Given the description of an element on the screen output the (x, y) to click on. 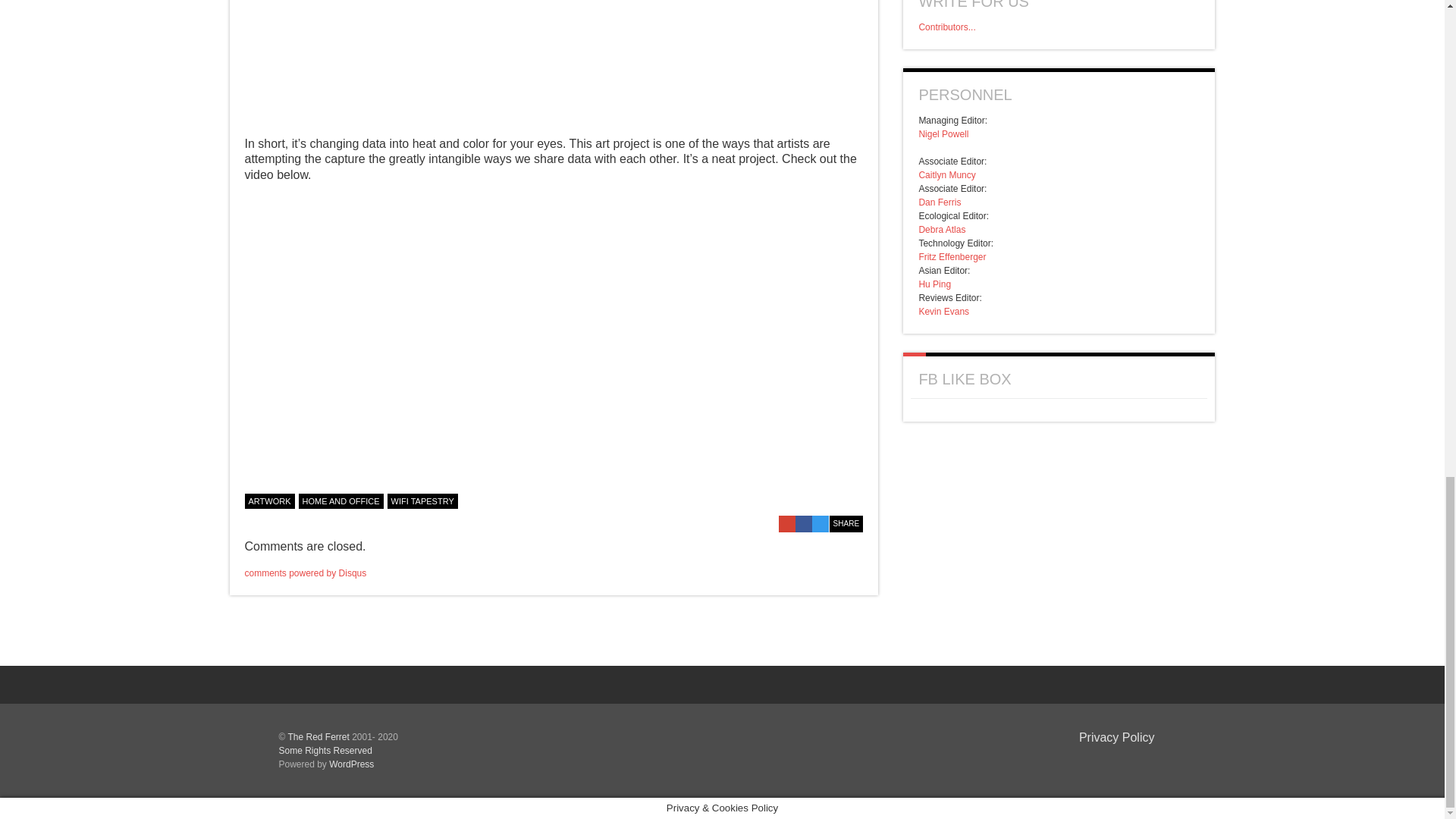
I like this article (855, 498)
Dan Ferris (939, 202)
SHARE (846, 523)
comments powered by Disqus (305, 573)
ARTWORK (269, 500)
HOME AND OFFICE (341, 500)
Built by Bairwell (1130, 760)
Debra Atlas (941, 229)
Contributors... (946, 27)
Caitlyn Muncy (946, 174)
